Given the description of an element on the screen output the (x, y) to click on. 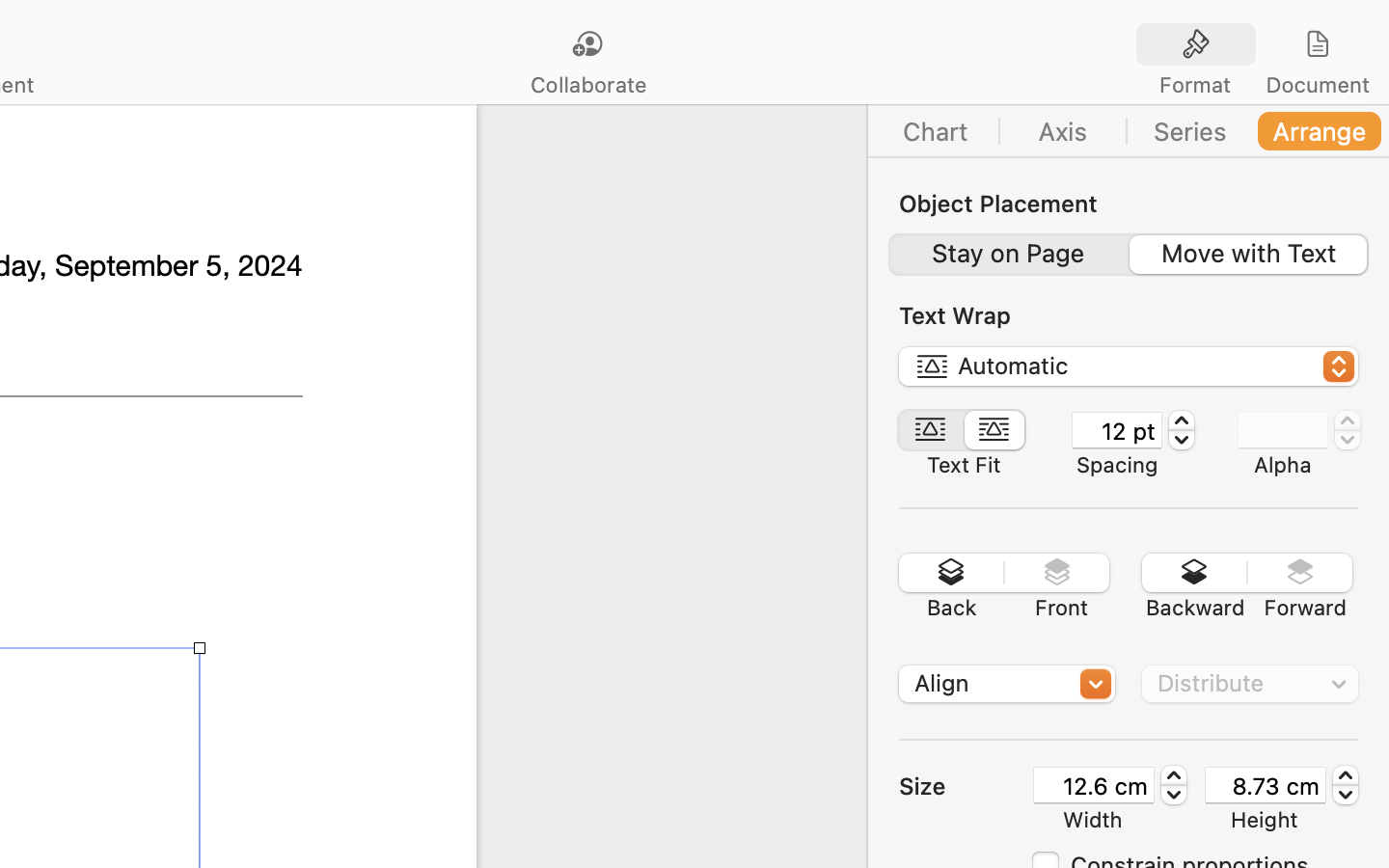
12.6 cm Element type: AXTextField (1093, 784)
Object Placement Element type: AXStaticText (998, 203)
Width Element type: AXStaticText (1092, 819)
Automatic Element type: AXPopUpButton (1129, 369)
